Given the description of an element on the screen output the (x, y) to click on. 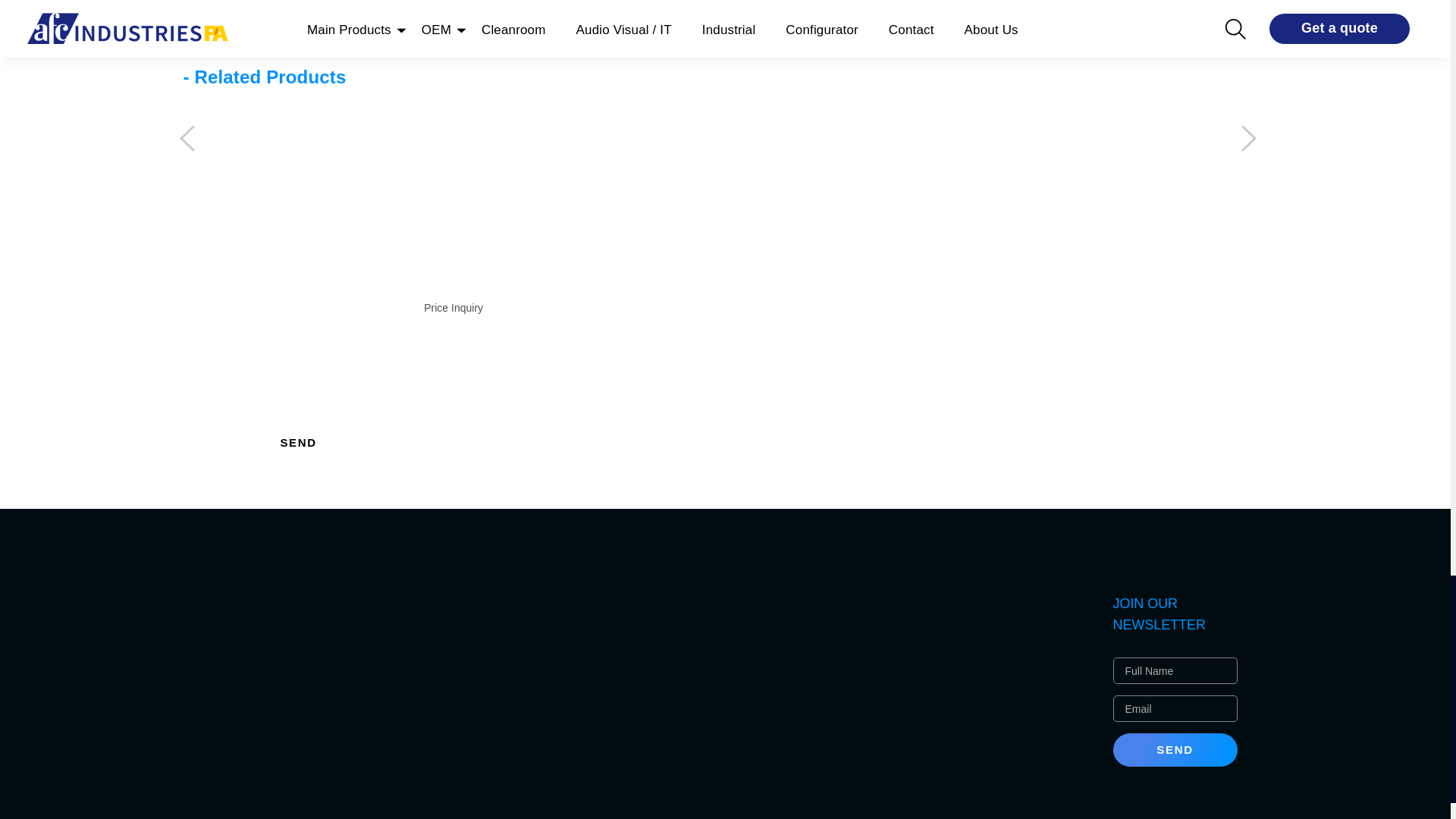
SEND (298, 442)
